Given the description of an element on the screen output the (x, y) to click on. 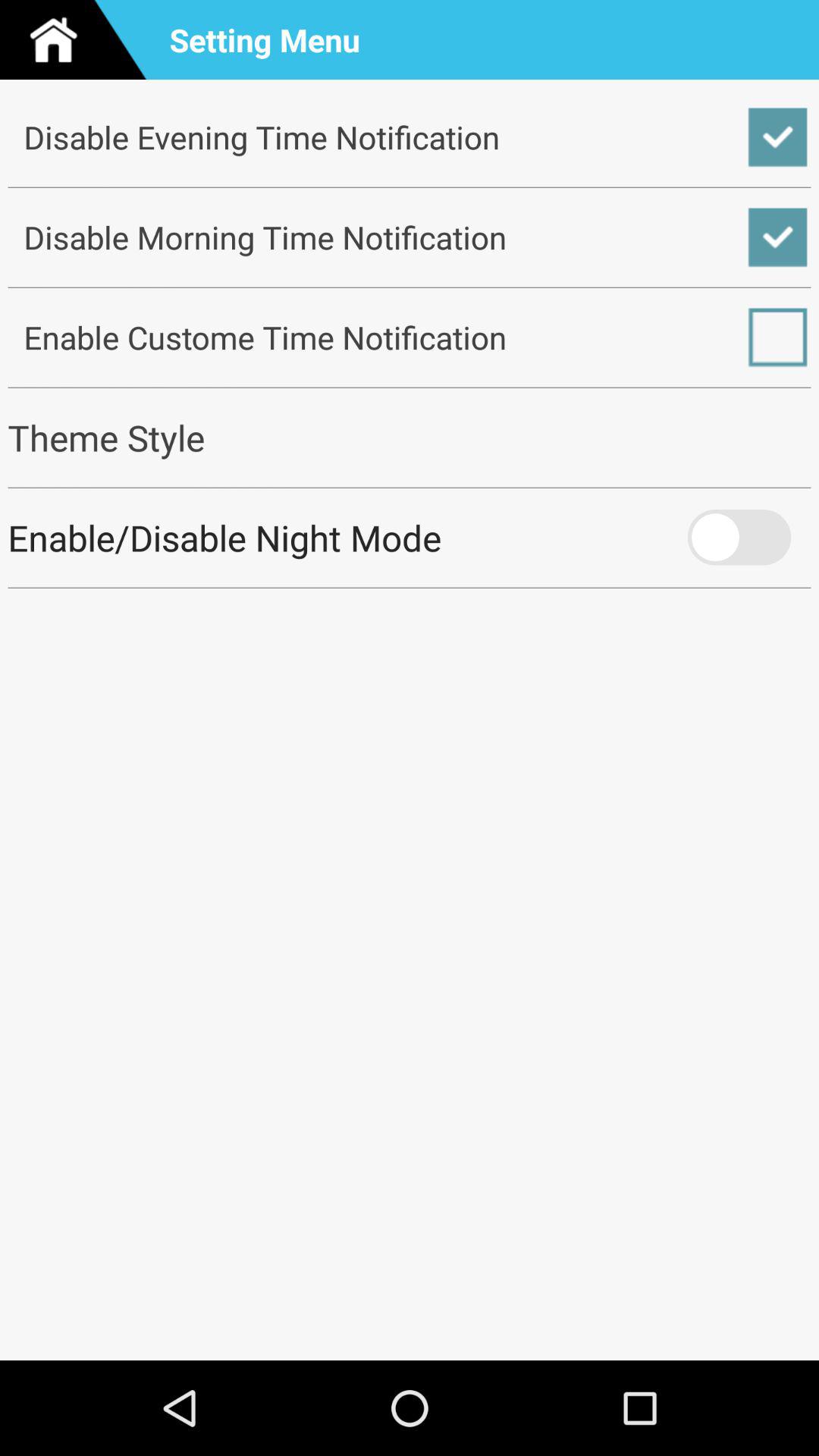
choose app to the left of setting menu icon (79, 39)
